Given the description of an element on the screen output the (x, y) to click on. 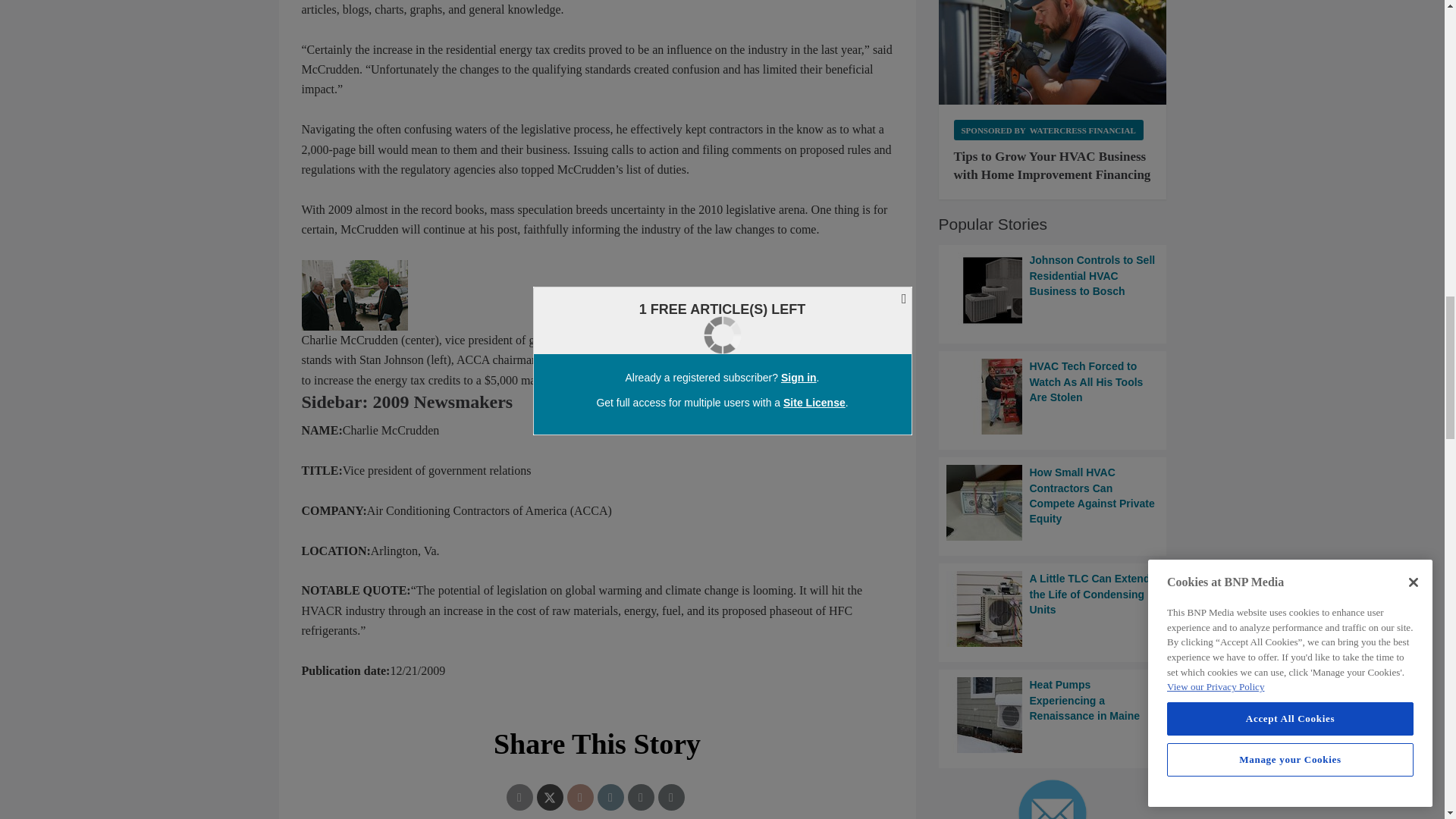
Sponsored by Watercress Financial (1047, 129)
Heat Pumps Experiencing a Renaissance in Maine (1052, 714)
Technician Working on HVAC Unit (1052, 52)
HVAC Tech Forced to Watch As All His Tools Are Stolen (1052, 396)
A Little TLC Can Extend the Life of Condensing Units (1052, 608)
Johnson Controls to Sell Residential HVAC Business to Bosch (1052, 290)
